Given the description of an element on the screen output the (x, y) to click on. 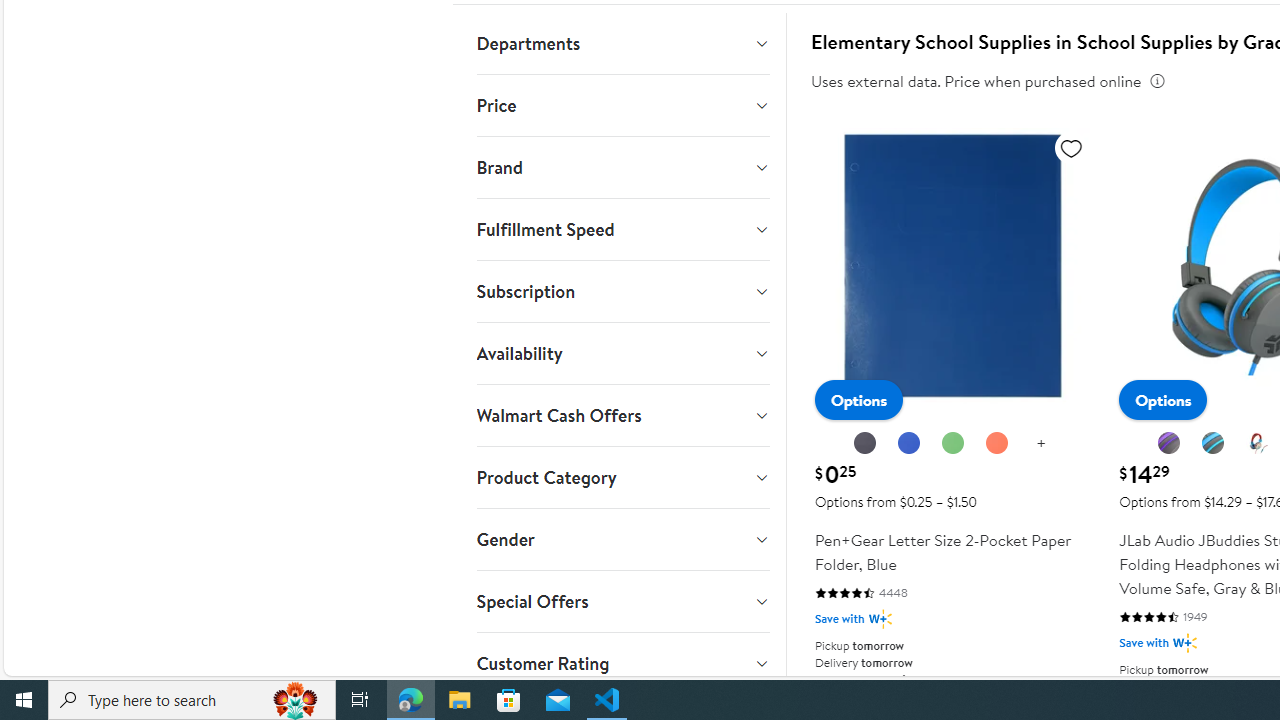
Customer Rating (622, 663)
Multicolor (1258, 444)
Walmart Plus (1184, 642)
Product Category (622, 478)
Options - Pen+Gear Letter Size 2-Pocket Paper Folder, Blue (858, 400)
Brand (622, 167)
Price (622, 105)
Black (865, 444)
Green (953, 444)
Customer Rating (622, 663)
Gray (1213, 443)
Availability (622, 354)
Departments (622, 43)
Pen+Gear Letter Size 2-Pocket Paper Folder, Blue (952, 395)
Gray (1214, 444)
